Given the description of an element on the screen output the (x, y) to click on. 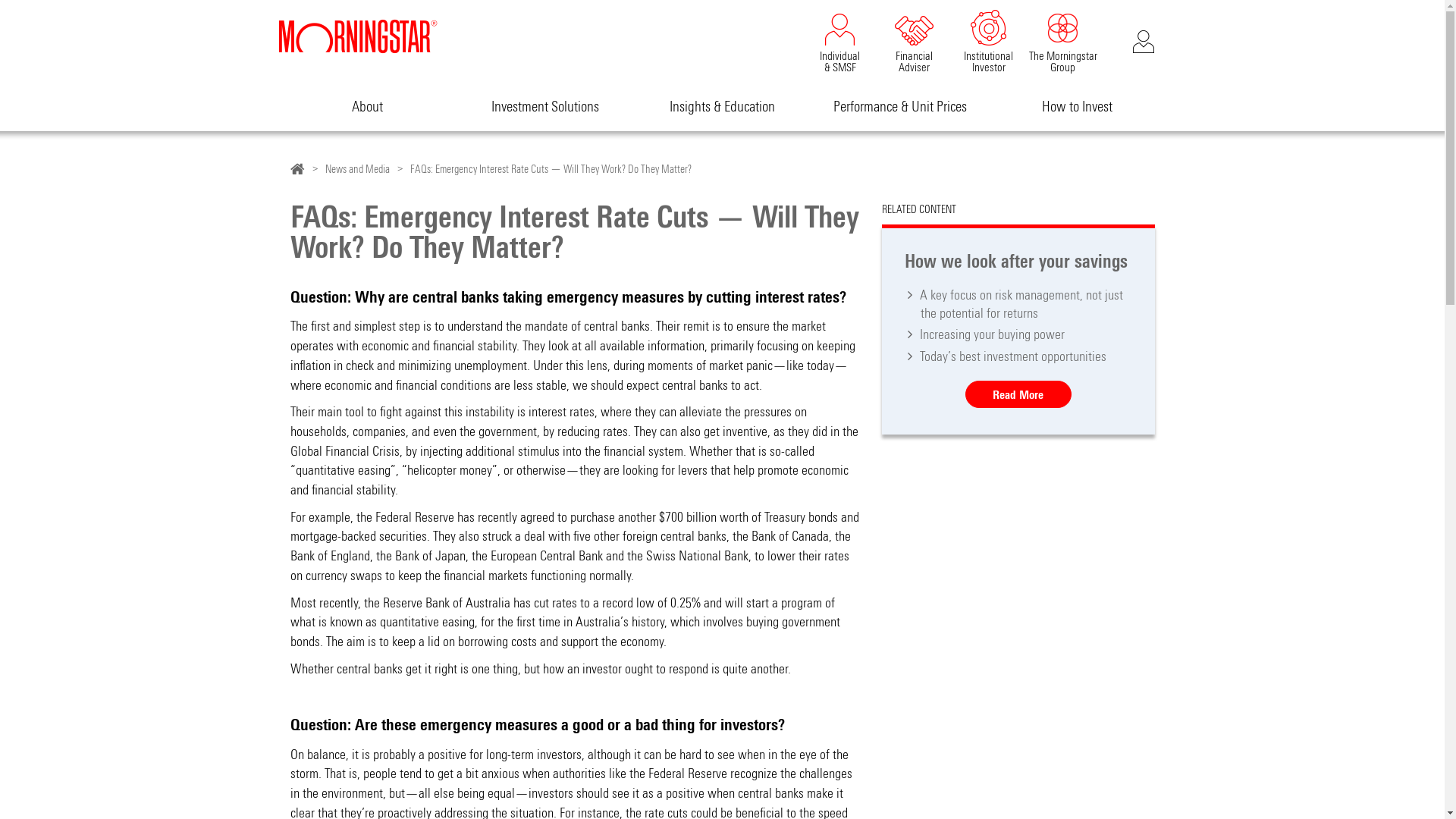
Performance & Unit Prices Element type: text (899, 106)
Morningstar Investment Management Element type: text (296, 168)
Insights & Education Element type: text (722, 106)
Investment Solutions Element type: text (544, 106)
The Morningstar
Group Element type: text (1062, 39)
Read More Element type: text (1017, 393)
About Element type: text (367, 106)
Individual
& SMSF Element type: text (839, 39)
News and Media Element type: text (356, 168)
Financial
Adviser Element type: text (913, 39)
How to Invest Element type: text (1077, 106)
Institutional
Investor Element type: text (987, 39)
